Given the description of an element on the screen output the (x, y) to click on. 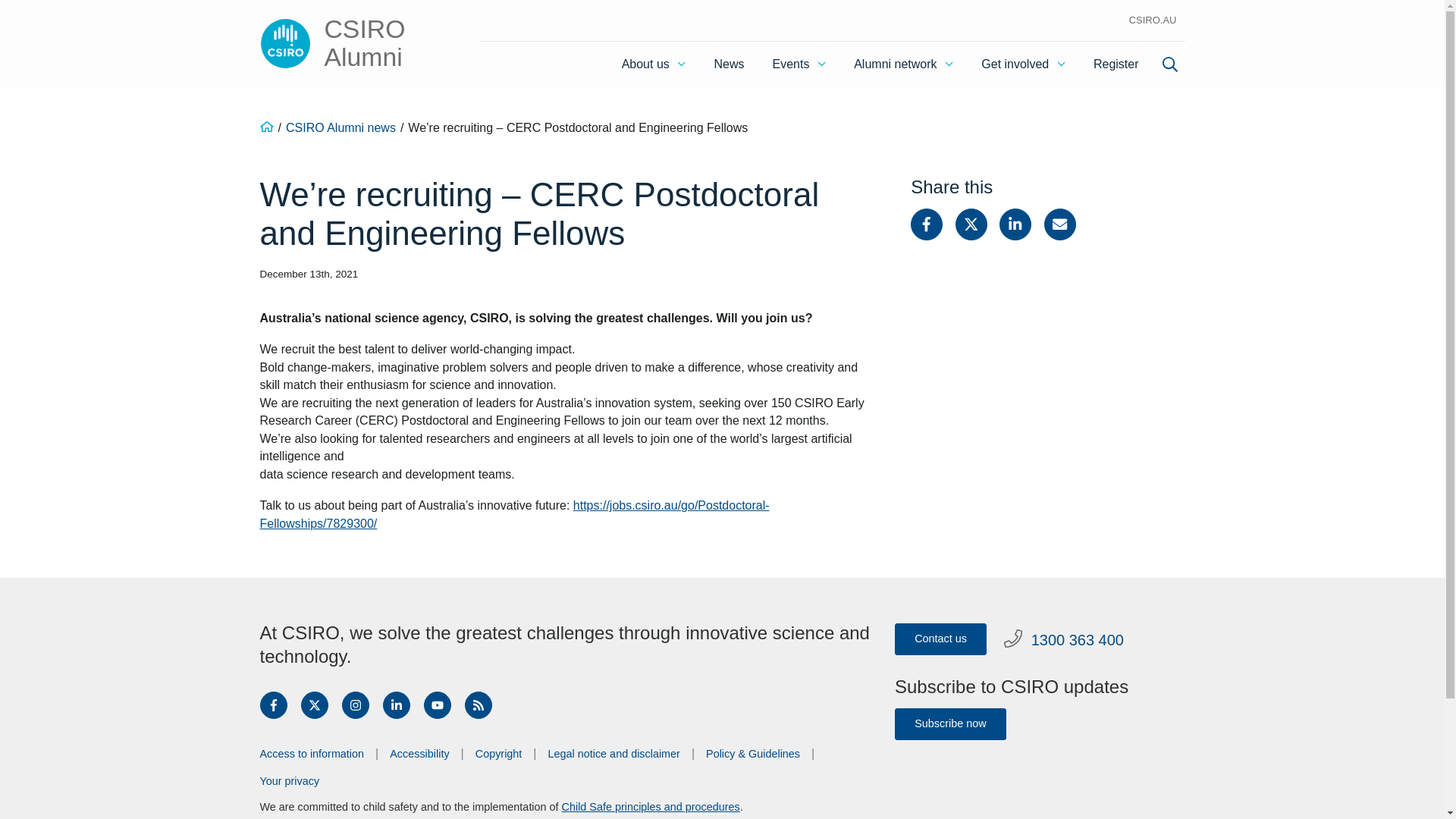
Get involved (1023, 64)
Events (799, 64)
Alumni network (903, 64)
News (729, 64)
CSIRO.AU (1153, 20)
CSIRO Alumni (346, 42)
About us (654, 64)
